Given the description of an element on the screen output the (x, y) to click on. 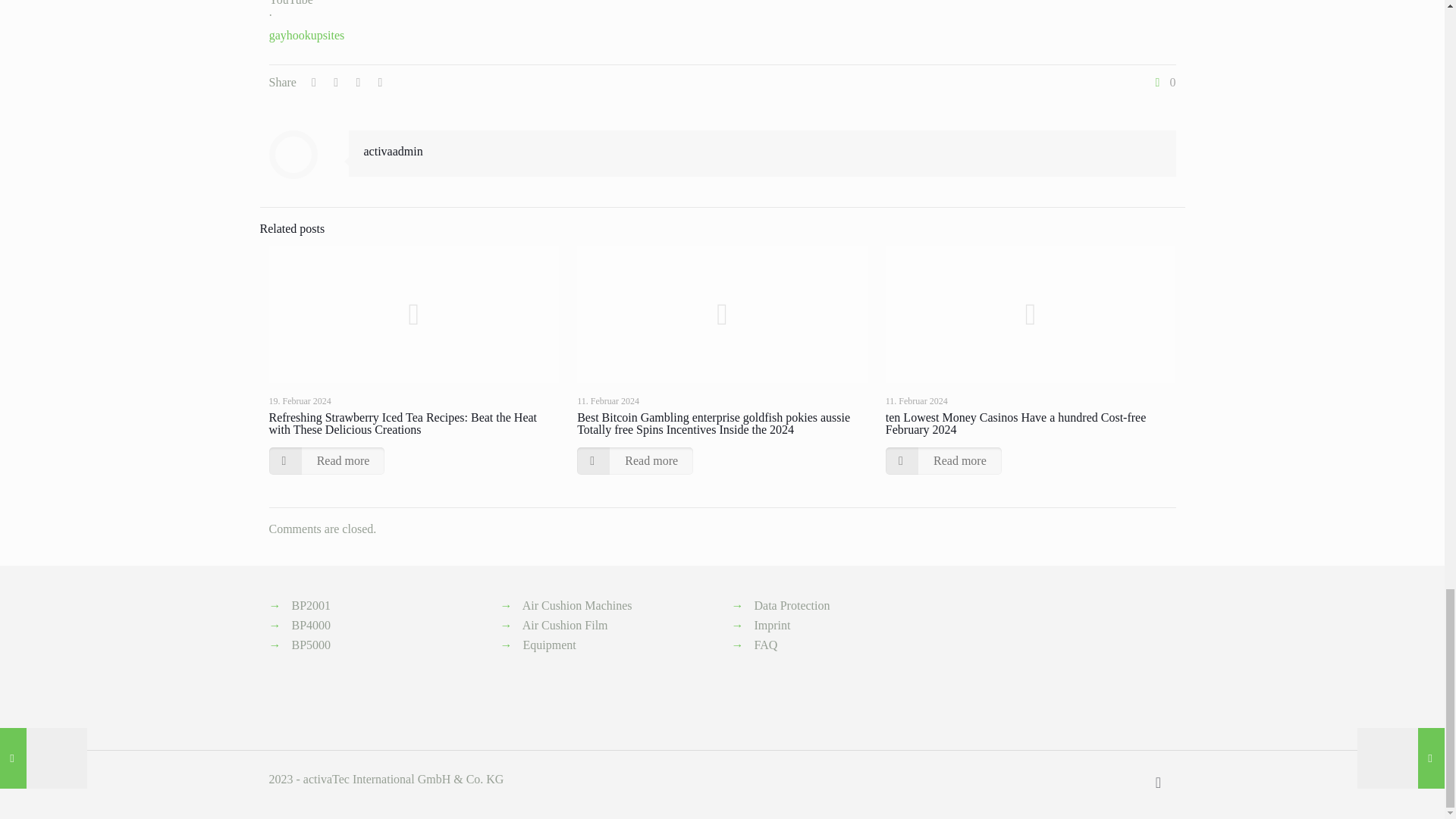
0 (1162, 82)
Read more (943, 461)
activaadmin (393, 151)
gayhookupsites (307, 34)
Read more (634, 461)
Read more (325, 461)
